Given the description of an element on the screen output the (x, y) to click on. 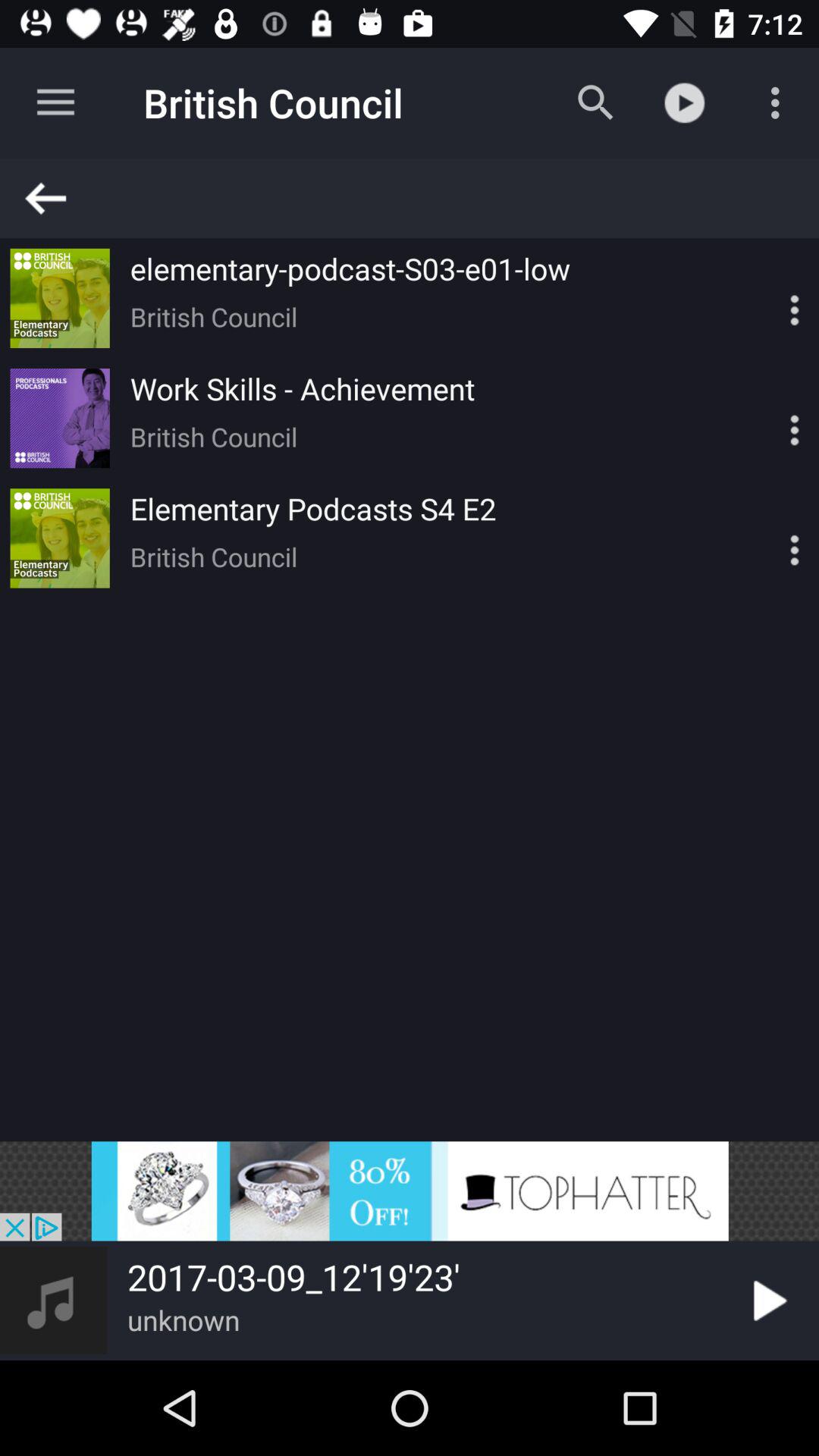
mp3 player (768, 298)
